Given the description of an element on the screen output the (x, y) to click on. 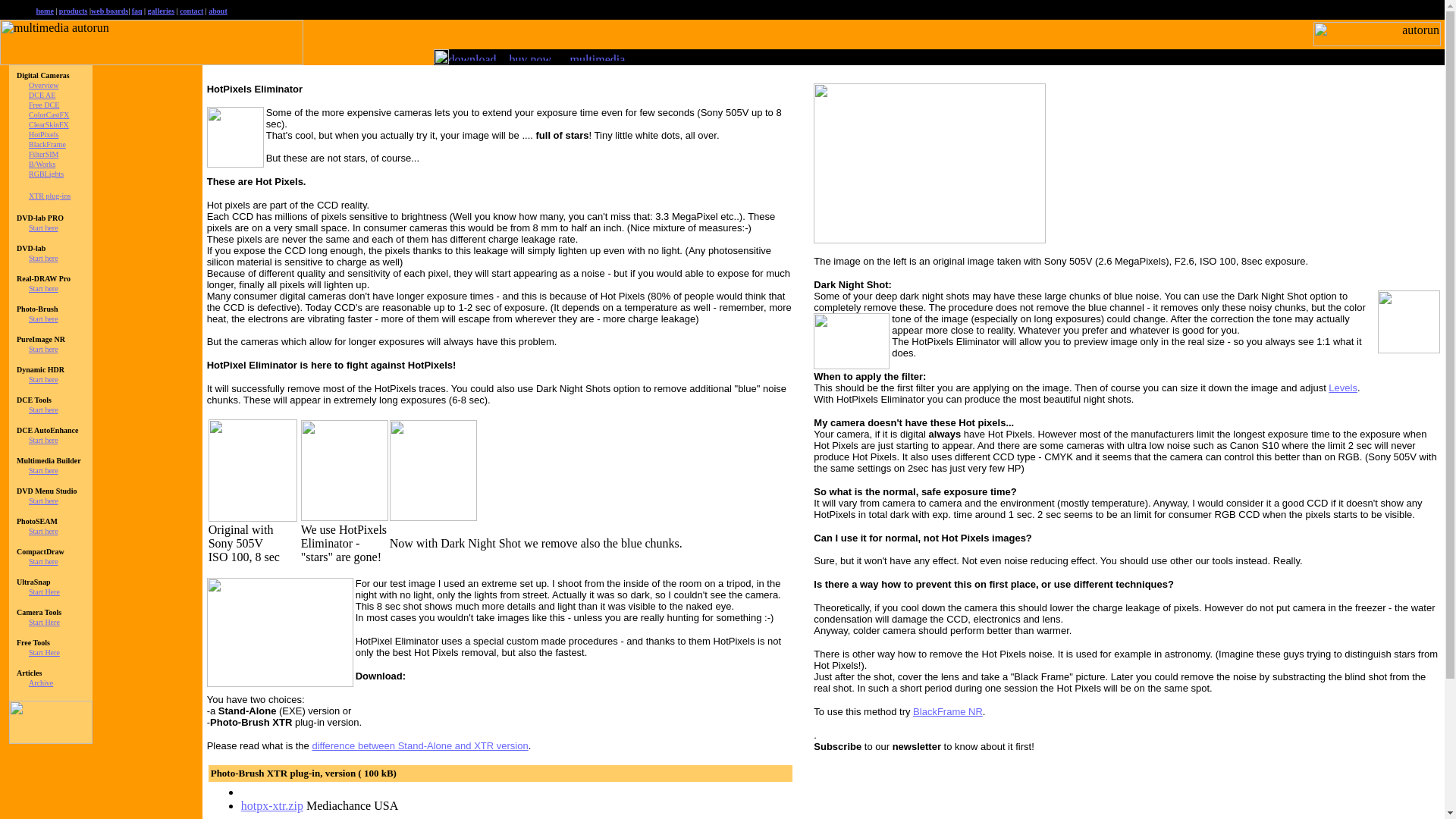
XTR plug-ins (49, 195)
Free DCE (44, 104)
Start here (43, 439)
products (73, 10)
about (217, 10)
contact (191, 10)
DCE AE (42, 94)
ClearSkinFX (48, 124)
Start here (43, 227)
RGBLights (46, 173)
